Given the description of an element on the screen output the (x, y) to click on. 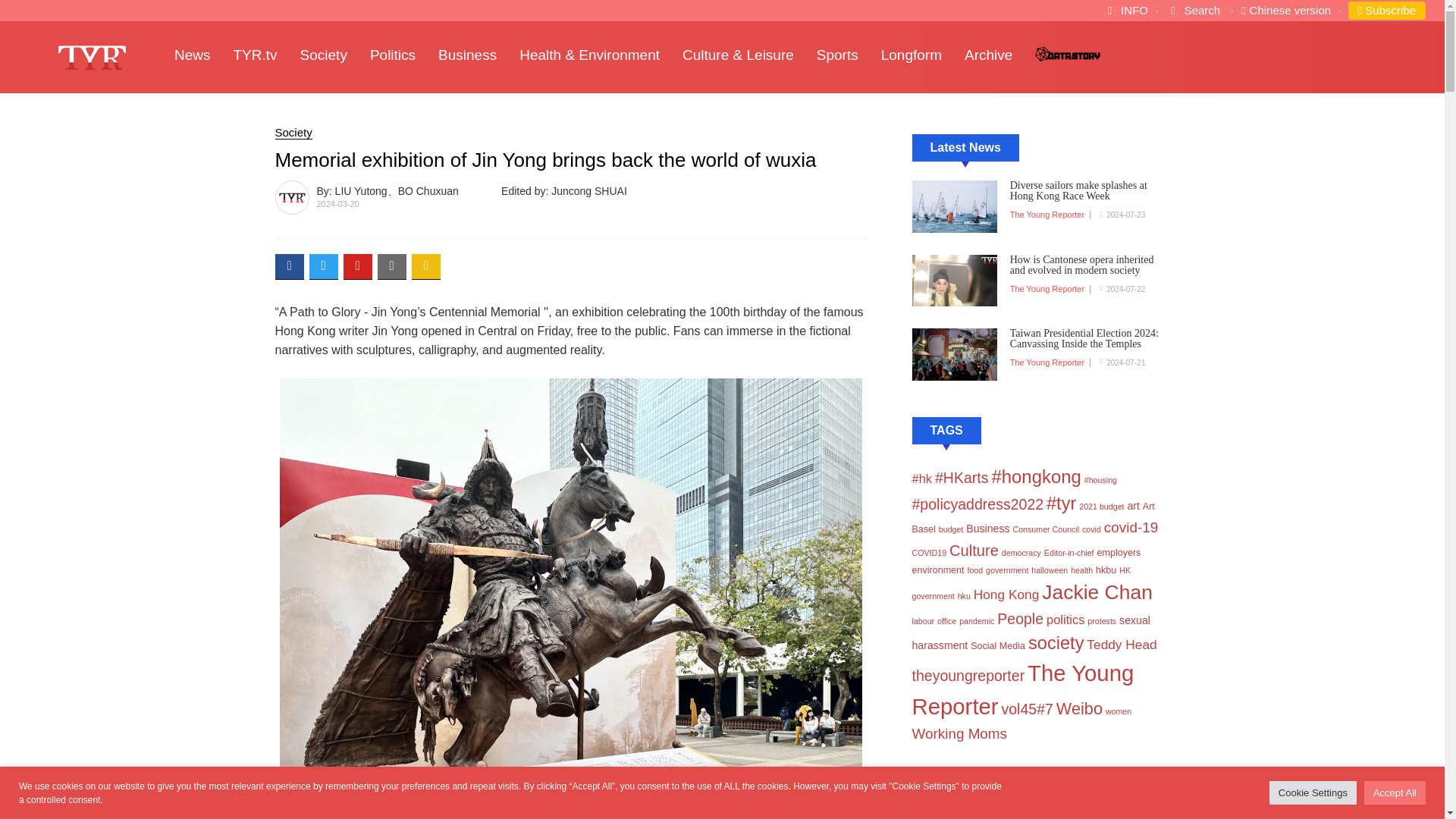
Politics (403, 55)
Subscribe (1386, 10)
Longform (921, 55)
Diverse sailors make splashes at Hong Kong Race Week (1090, 201)
Archive (999, 55)
Business (478, 55)
INFO (1126, 10)
TYR.tv (265, 55)
Search (1195, 10)
The Young Reporter (1047, 361)
